Given the description of an element on the screen output the (x, y) to click on. 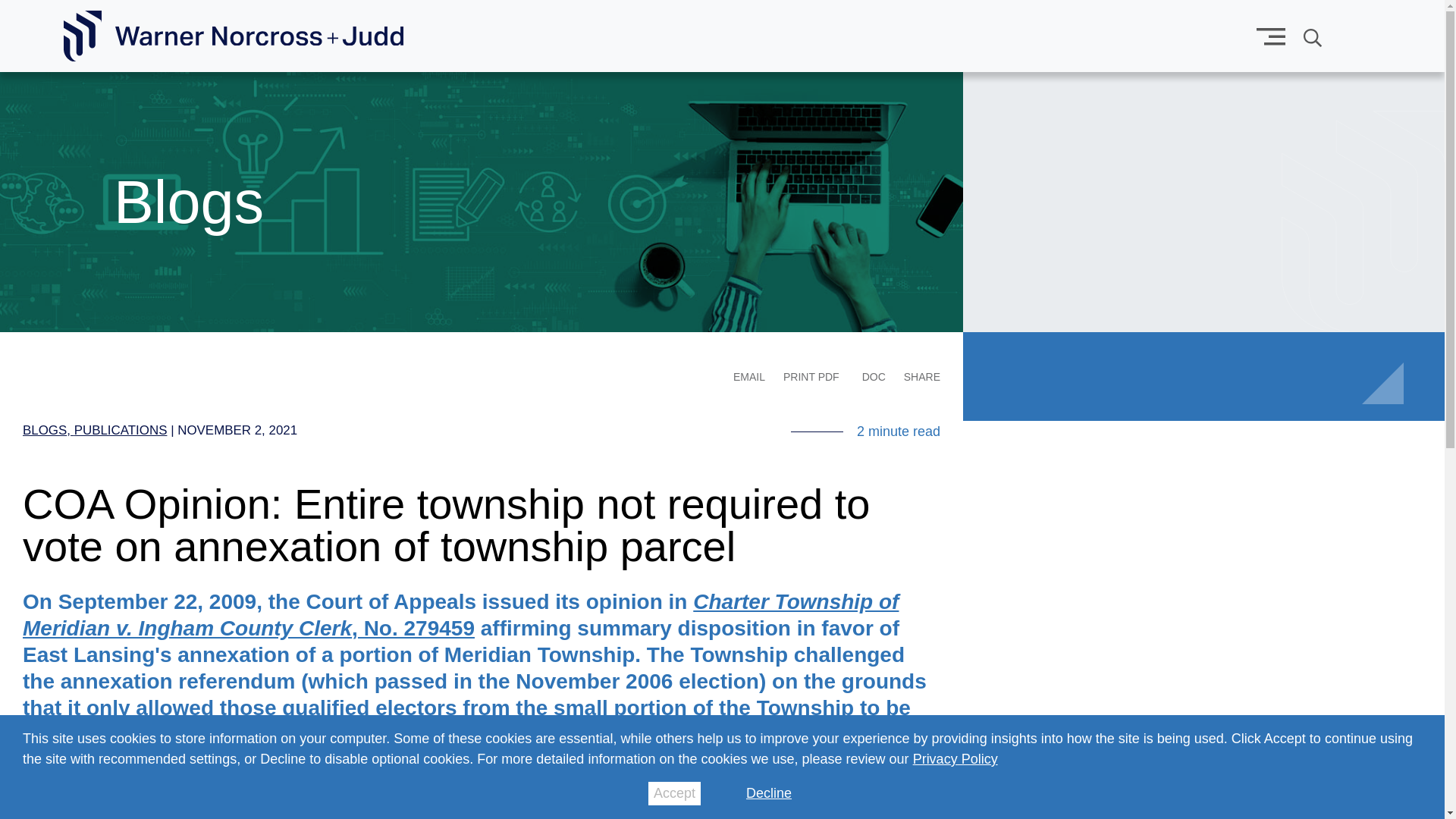
SHARE (922, 377)
EMAIL (749, 377)
PRINT PDF (811, 376)
Accept (673, 793)
Privacy Policy (954, 758)
Decline (768, 793)
DOC (873, 376)
